Given the description of an element on the screen output the (x, y) to click on. 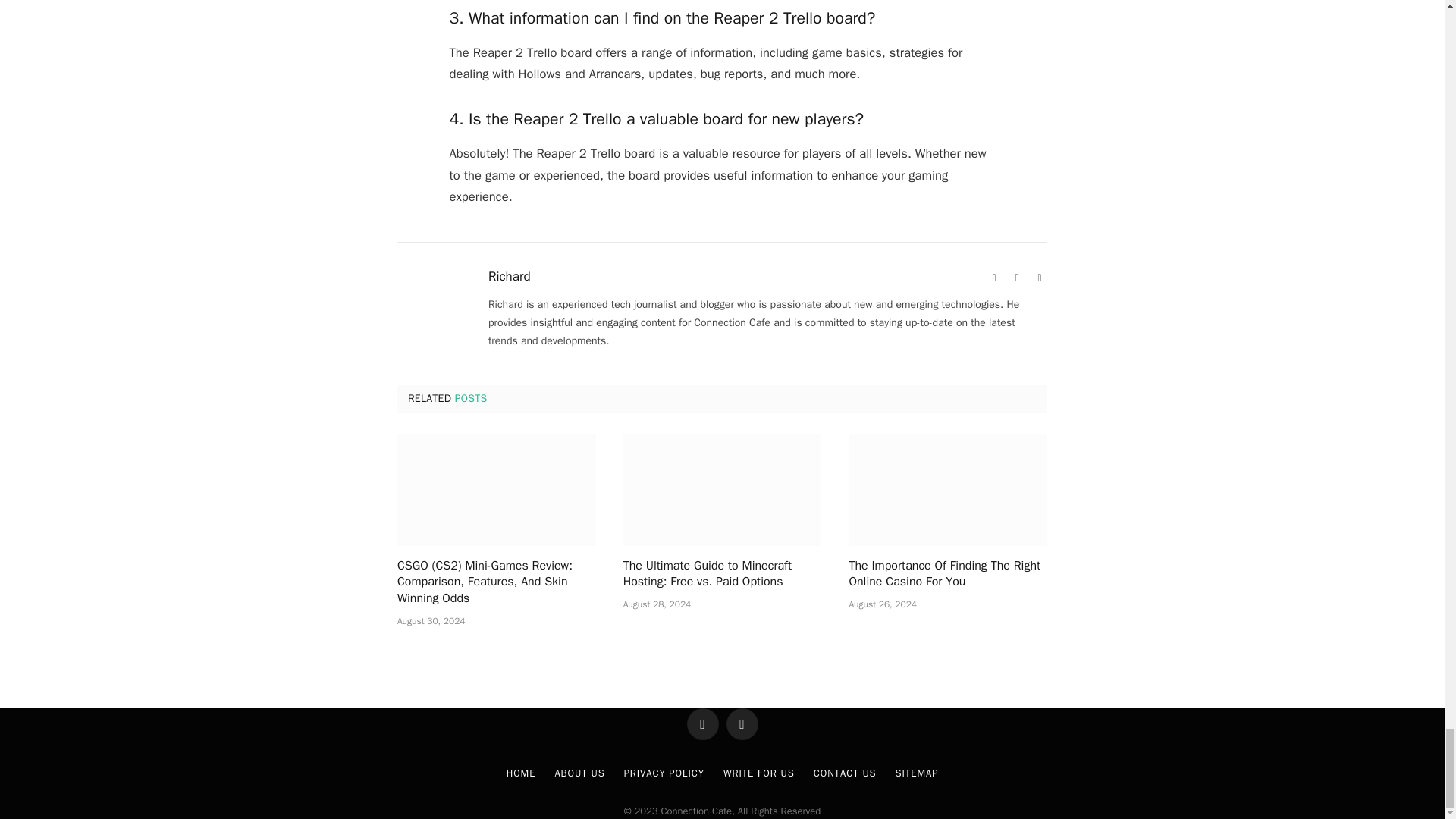
Twitter (1039, 278)
Facebook (1017, 278)
The Importance Of Finding The Right Online Casino For You (947, 489)
Posts by Richard (509, 276)
Website (994, 278)
